Given the description of an element on the screen output the (x, y) to click on. 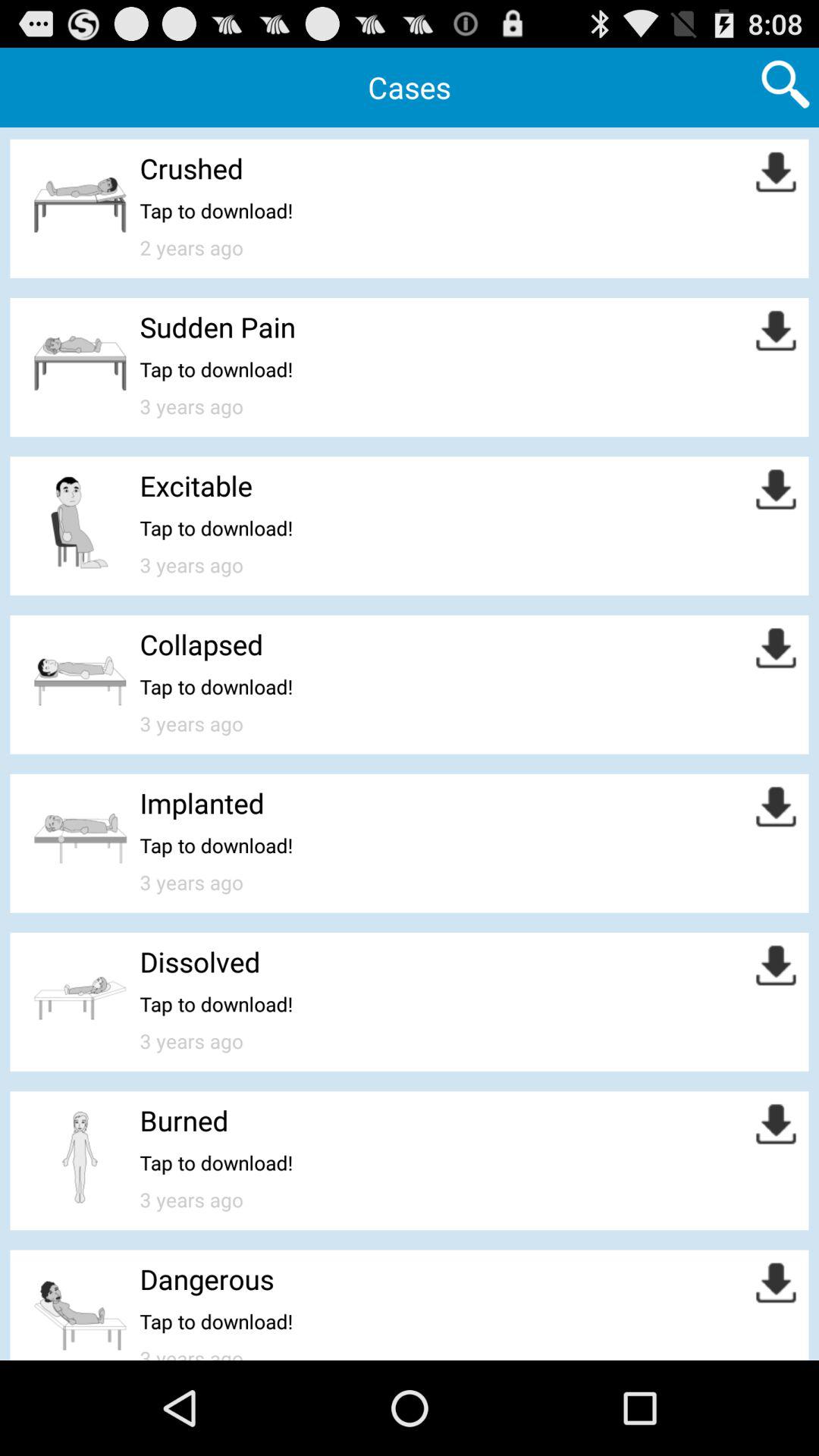
select the icon above tap to download! item (183, 1120)
